Given the description of an element on the screen output the (x, y) to click on. 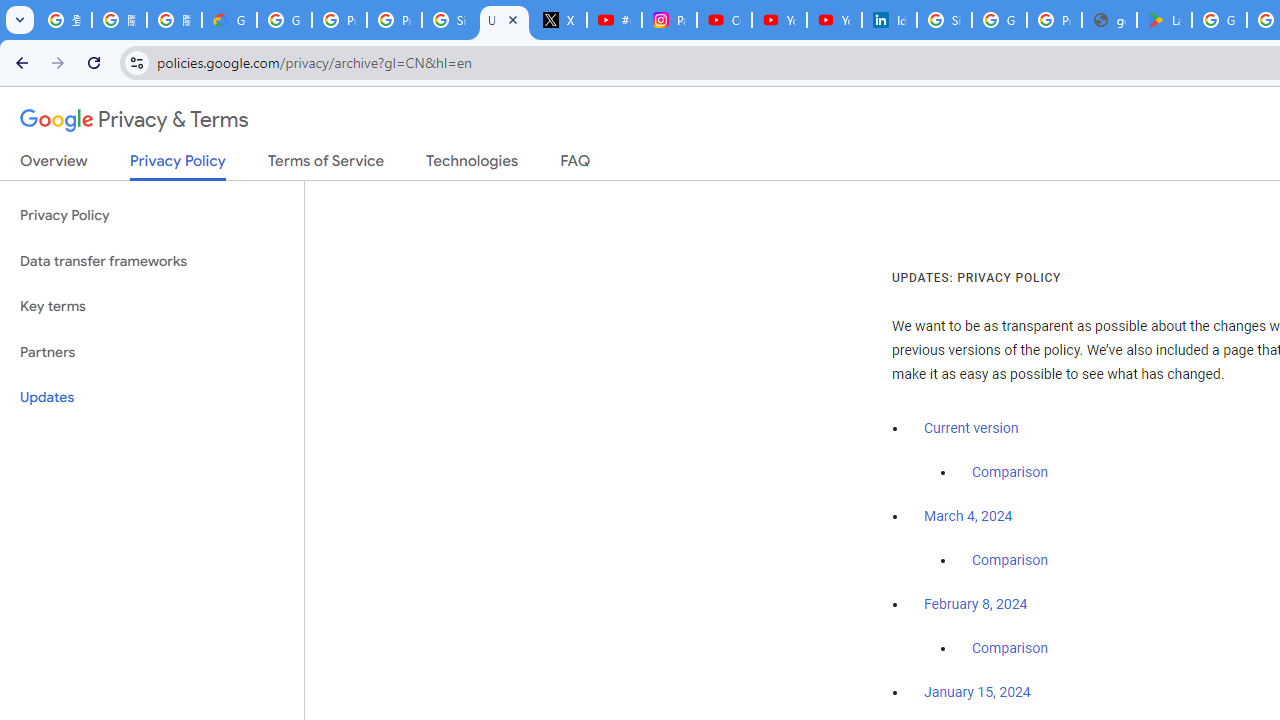
#nbabasketballhighlights - YouTube (614, 20)
January 15, 2024 (977, 693)
Sign in - Google Accounts (449, 20)
Comparison (1009, 649)
Current version (971, 428)
X (559, 20)
Sign in - Google Accounts (943, 20)
